Given the description of an element on the screen output the (x, y) to click on. 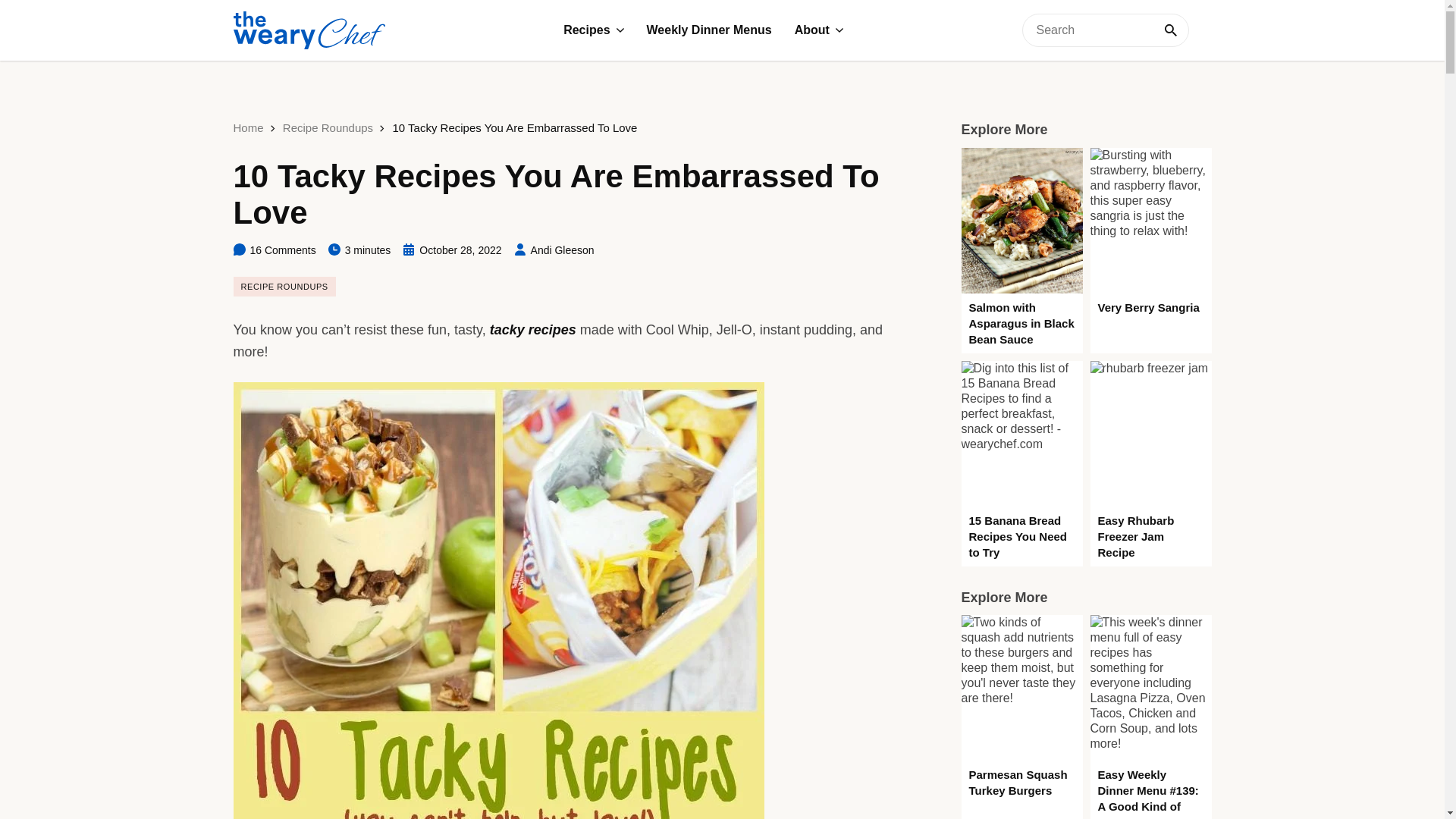
Home (247, 127)
Andi Gleeson (553, 249)
Recipes (593, 30)
RECIPE ROUNDUPS (284, 286)
16 Comments (273, 249)
Weekly Dinner Menus (708, 30)
Recipe Roundups (327, 127)
